Given the description of an element on the screen output the (x, y) to click on. 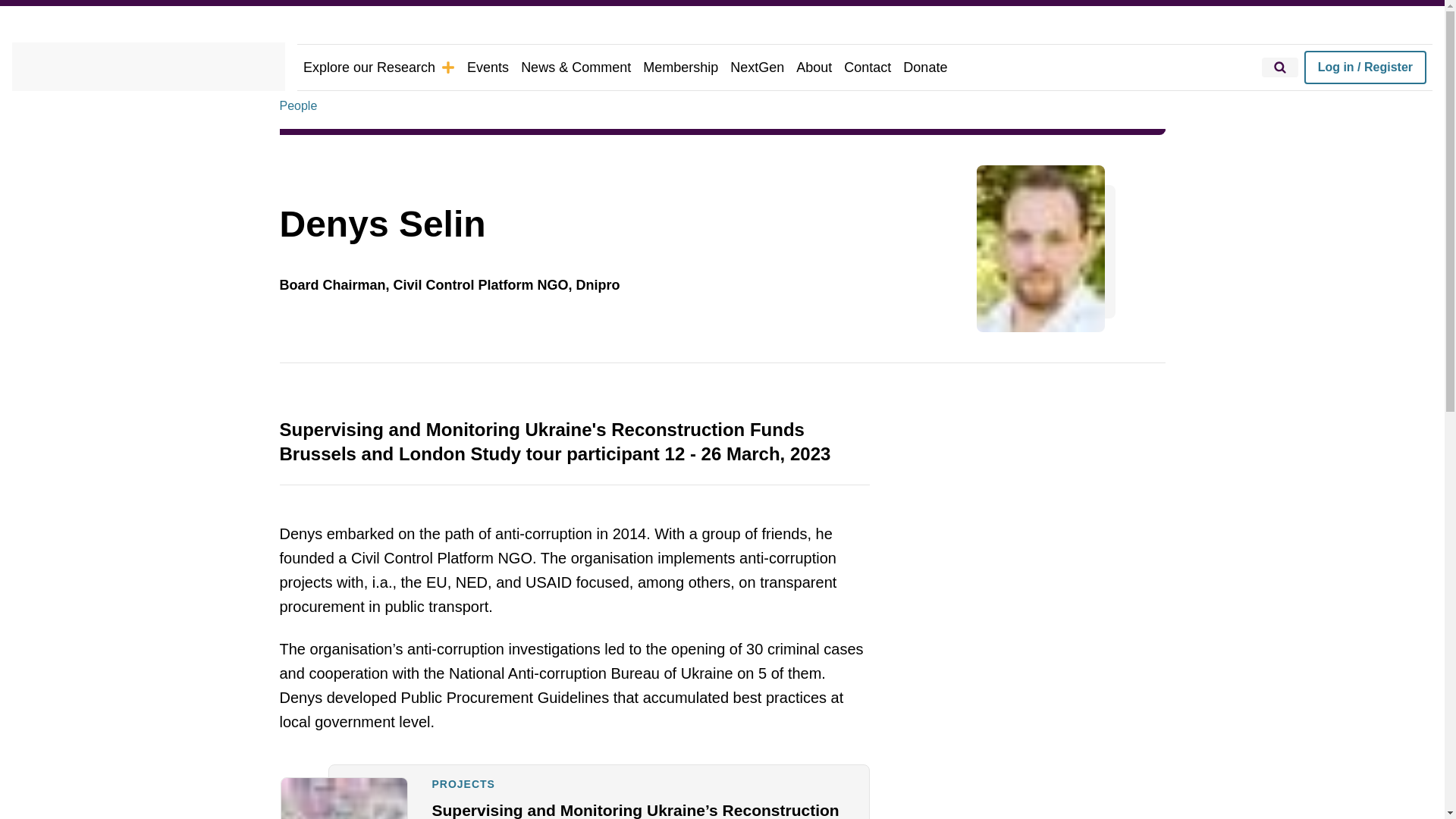
Events (488, 67)
People (298, 106)
Log in (1365, 67)
Donate (924, 67)
About (814, 67)
Membership (680, 67)
NextGen (756, 67)
Explore our Research (379, 67)
Search RUSI (1280, 66)
PROJECTS (463, 784)
